Given the description of an element on the screen output the (x, y) to click on. 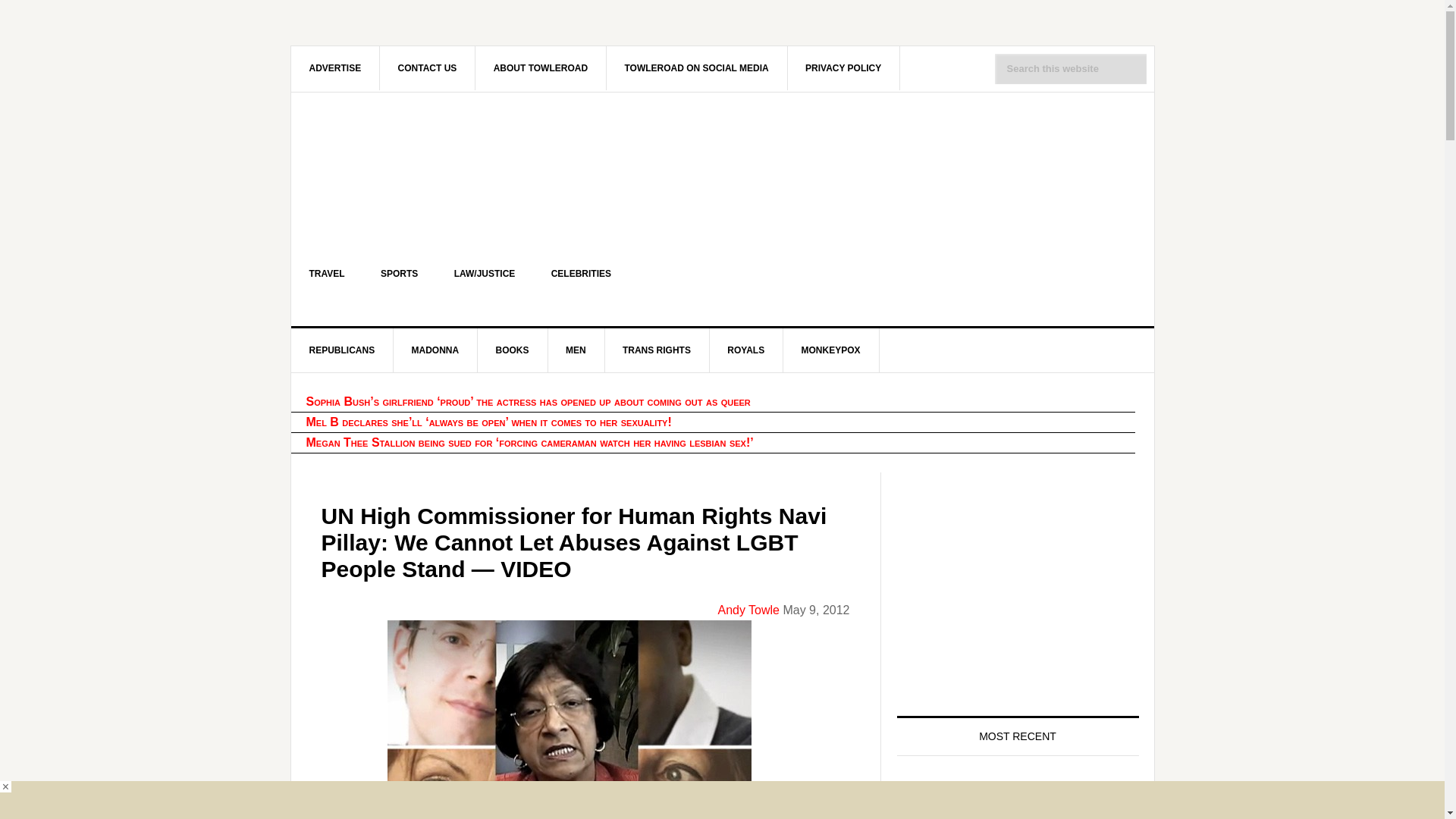
CONTACT US (428, 67)
close (5, 786)
TRANS RIGHTS (657, 349)
MADONNA (436, 349)
PRIVACY POLICY (843, 67)
BOOKS (512, 349)
SPORTS (398, 273)
TRAVEL (326, 273)
